Given the description of an element on the screen output the (x, y) to click on. 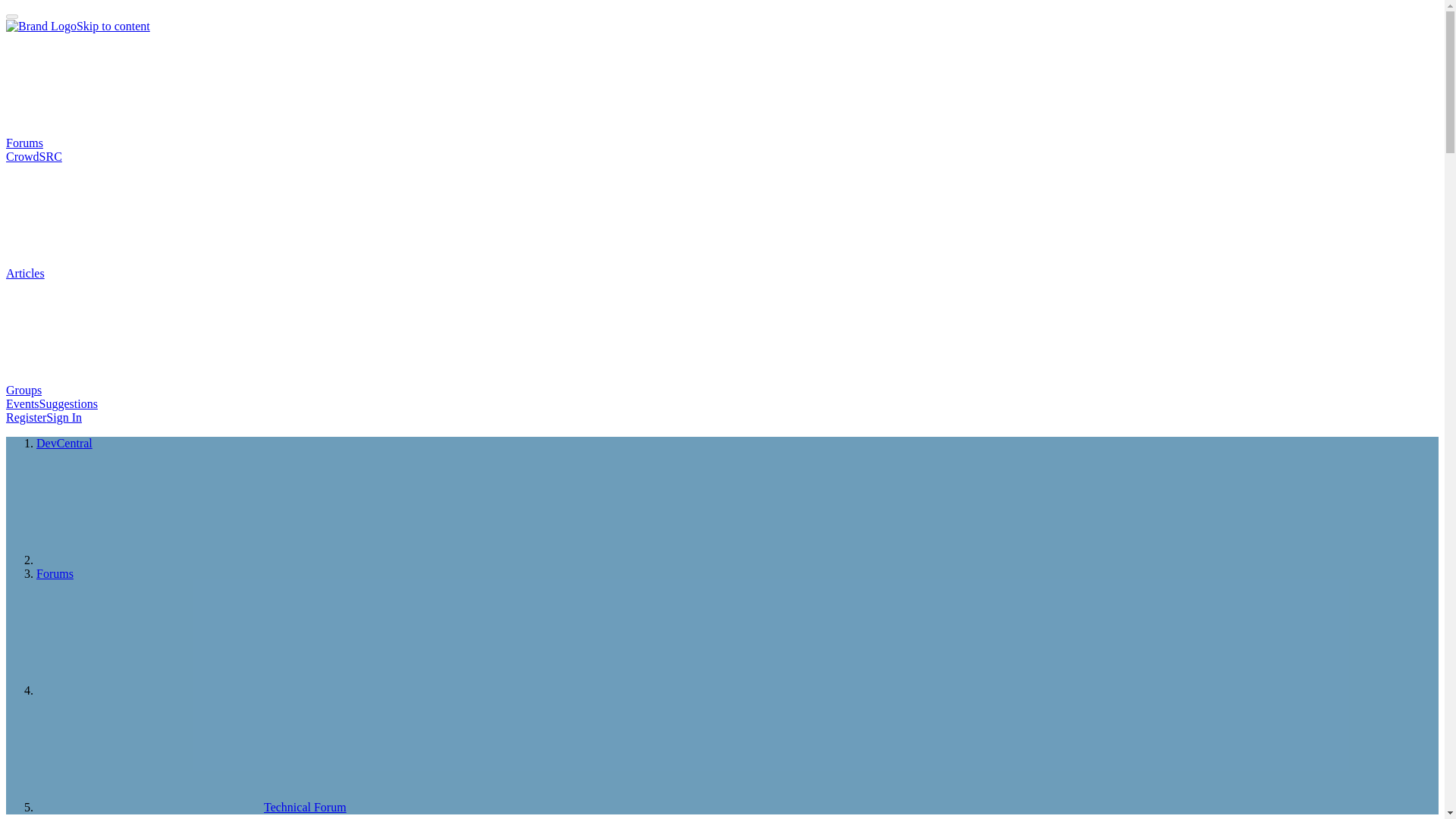
Articles (138, 273)
Suggestions (68, 403)
Groups (137, 390)
Skip to content (113, 25)
Events (22, 403)
Forums (55, 573)
Sign In (63, 417)
Forums (137, 142)
DevCentral (64, 442)
Technical Forum (191, 807)
Register (25, 417)
CrowdSRC (33, 155)
